Given the description of an element on the screen output the (x, y) to click on. 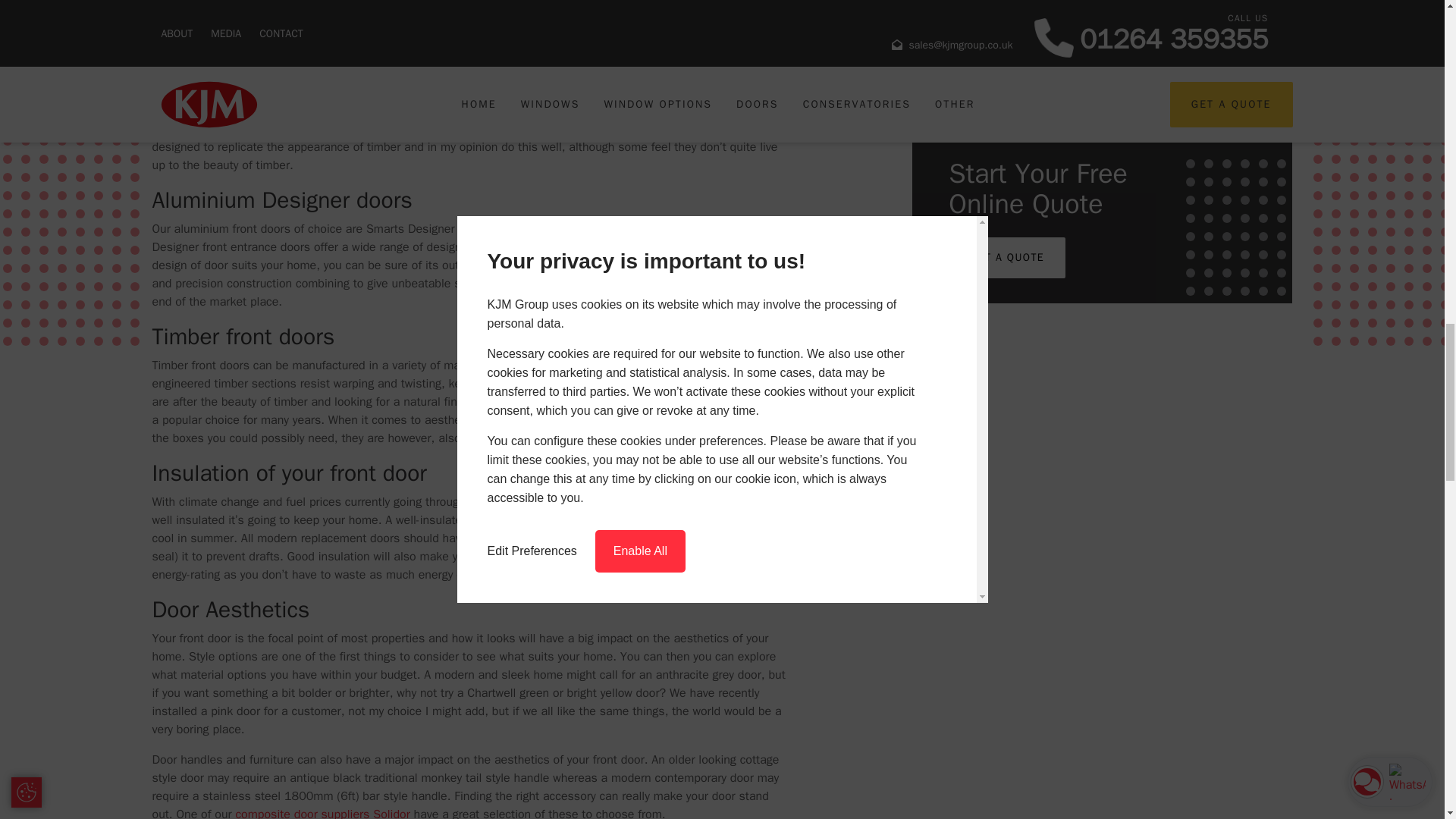
Solidor composite doors (321, 812)
